Given the description of an element on the screen output the (x, y) to click on. 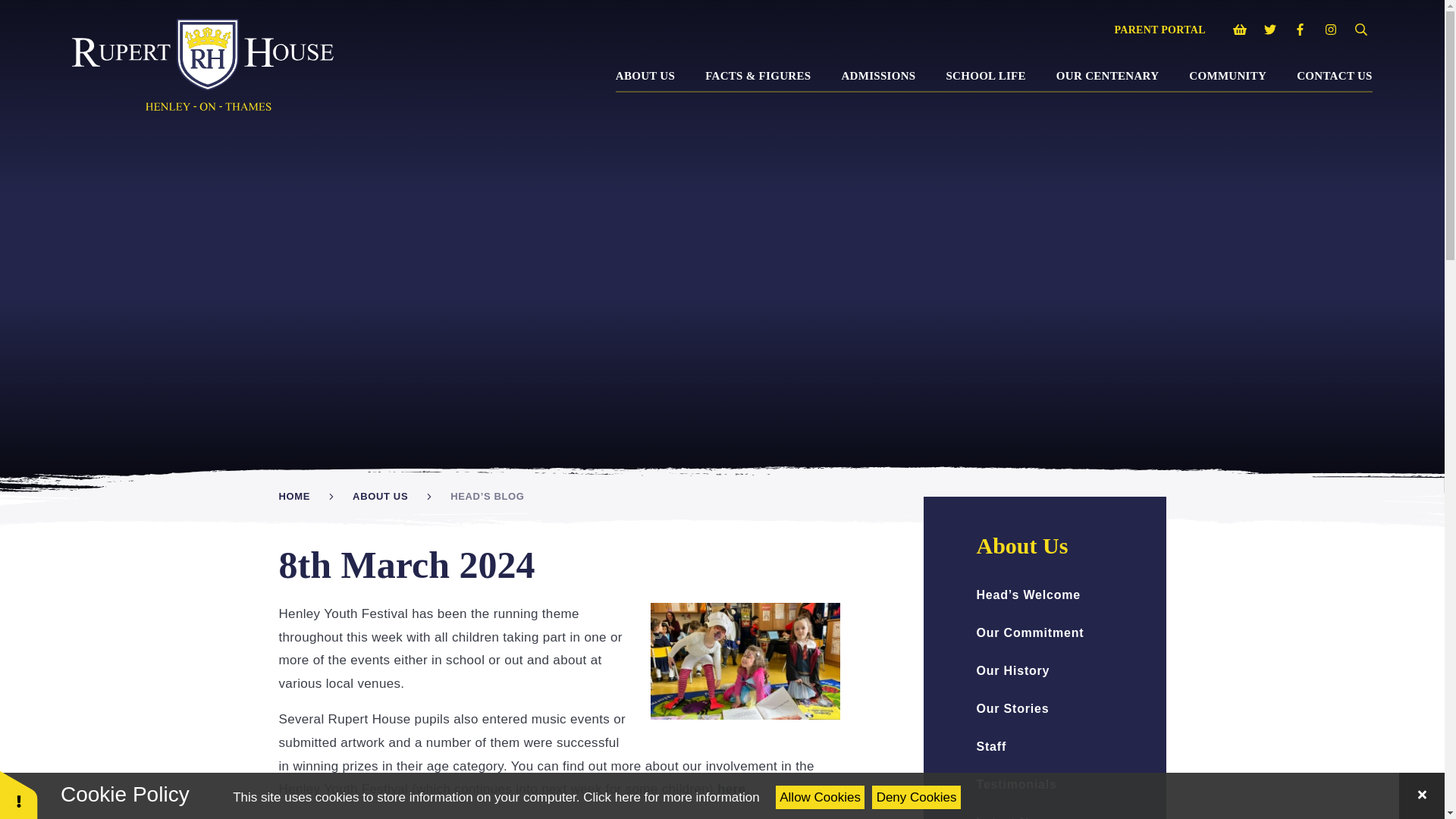
Twitter (1270, 29)
Facebook (1299, 29)
ABOUT US (645, 75)
See cookie policy (670, 797)
Instagram (1330, 29)
Basket (1239, 29)
Search (1361, 29)
Allow Cookies (820, 797)
Deny Cookies (915, 797)
